Given the description of an element on the screen output the (x, y) to click on. 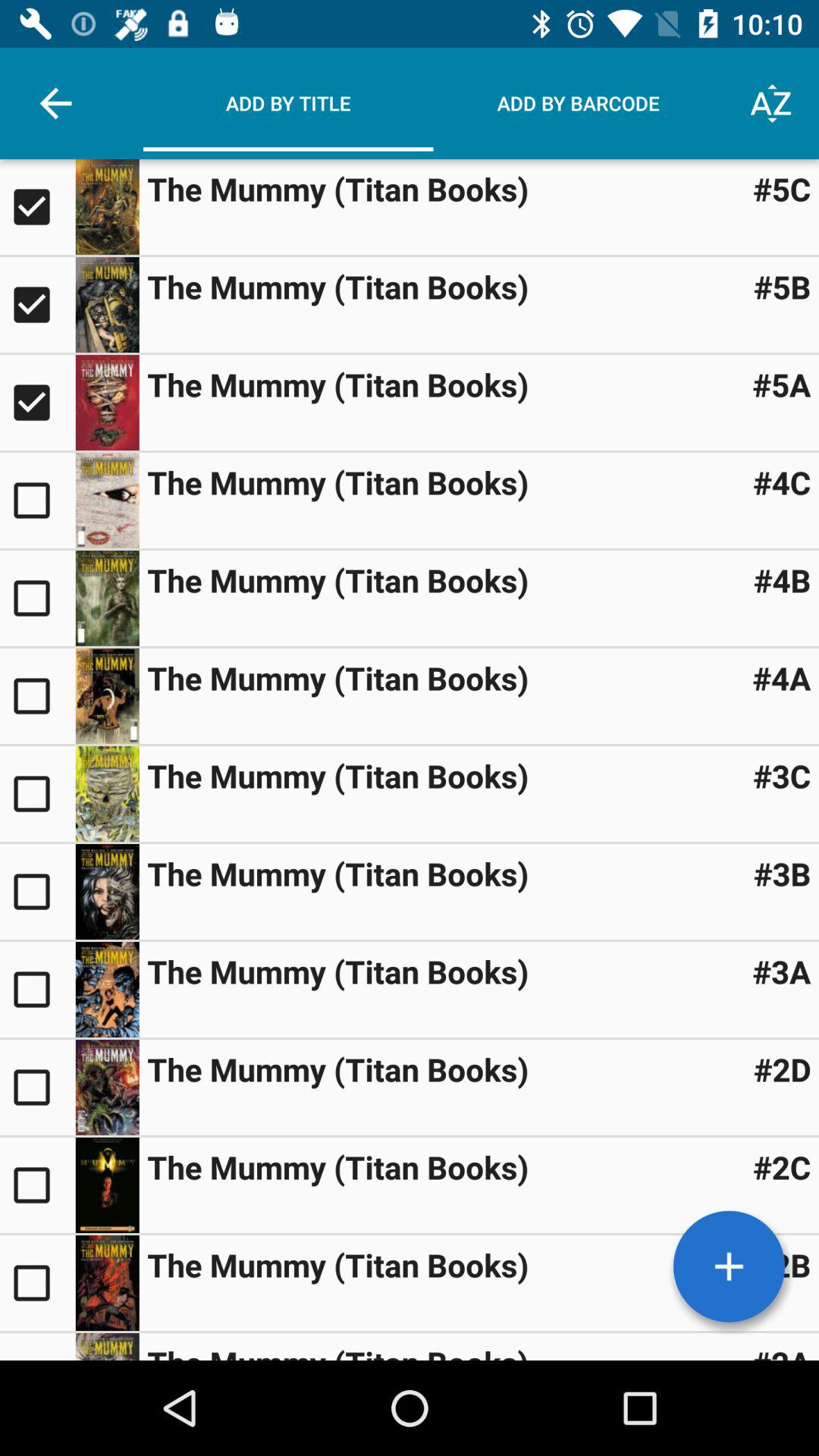
check box (37, 1282)
